Given the description of an element on the screen output the (x, y) to click on. 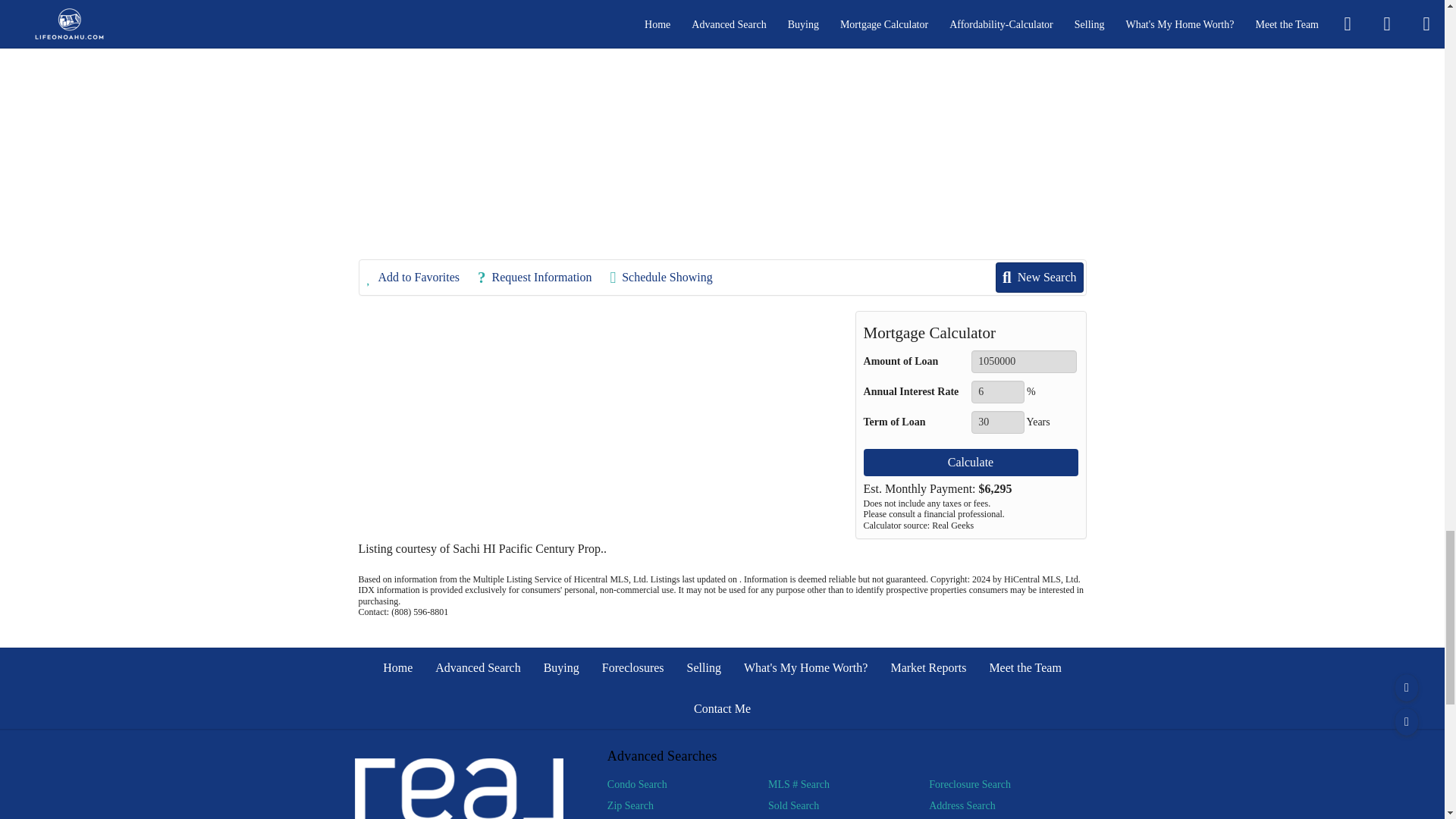
1050000 (1024, 361)
6 (997, 391)
30 (997, 422)
Logo (459, 788)
